Given the description of an element on the screen output the (x, y) to click on. 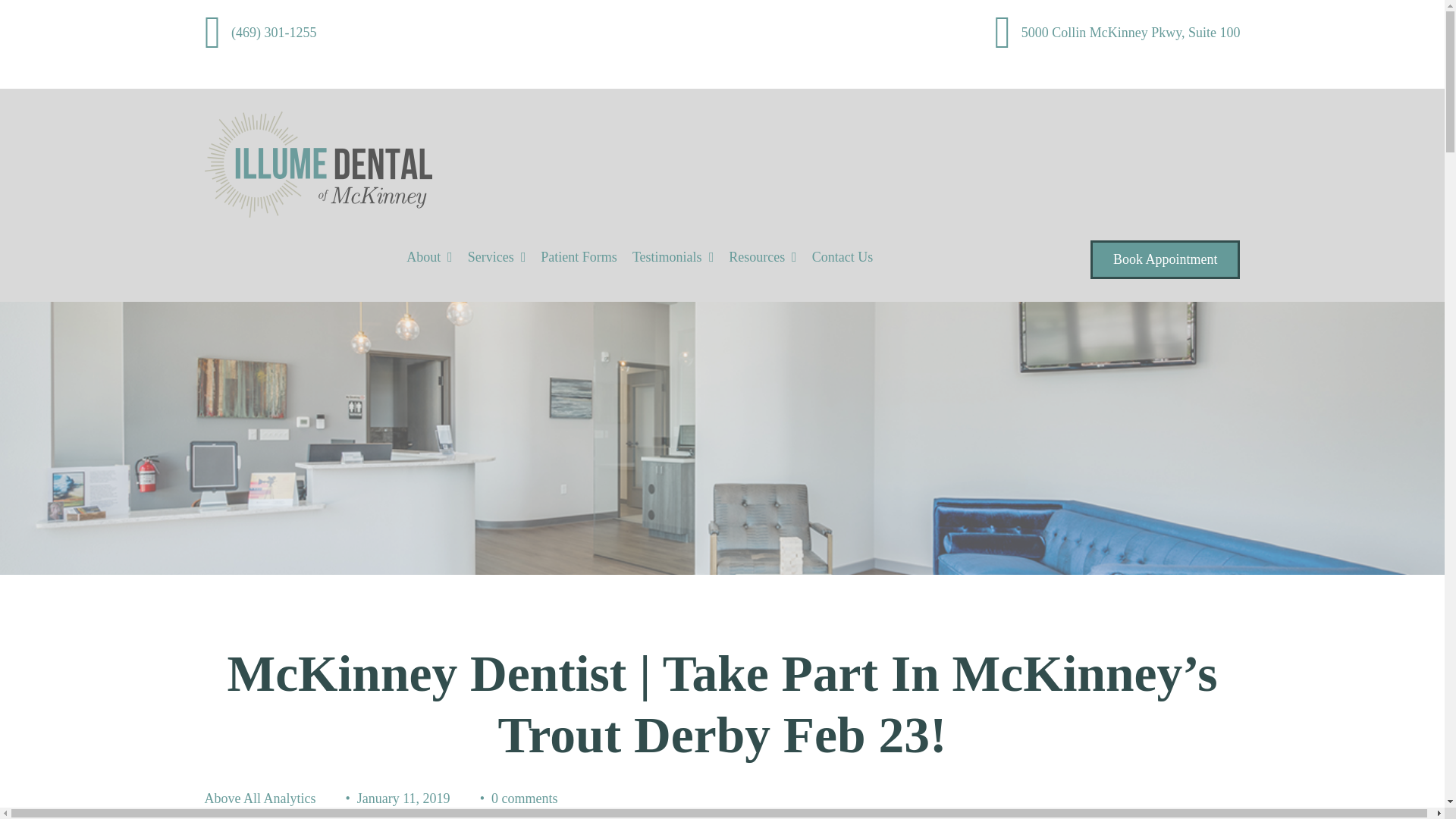
About (423, 257)
5000 Collin McKinney Pkwy, Suite 100 (1117, 32)
Services (490, 257)
